Given the description of an element on the screen output the (x, y) to click on. 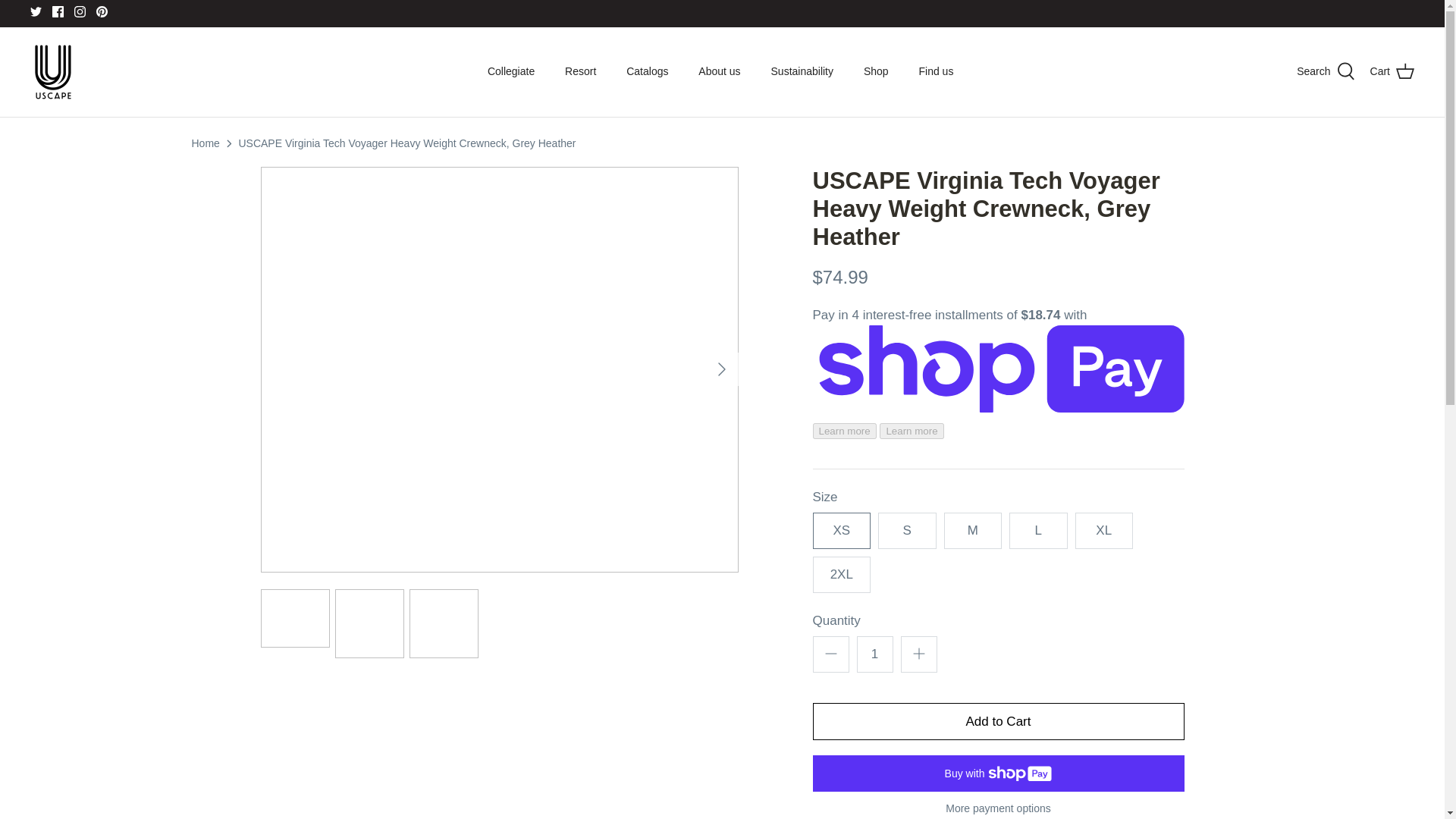
Instagram (79, 11)
Catalogs (646, 71)
Resort (580, 71)
Facebook (58, 11)
1 (875, 653)
Pinterest (101, 11)
Cart (1391, 71)
Plus (919, 653)
Twitter (36, 11)
About us (719, 71)
